Given the description of an element on the screen output the (x, y) to click on. 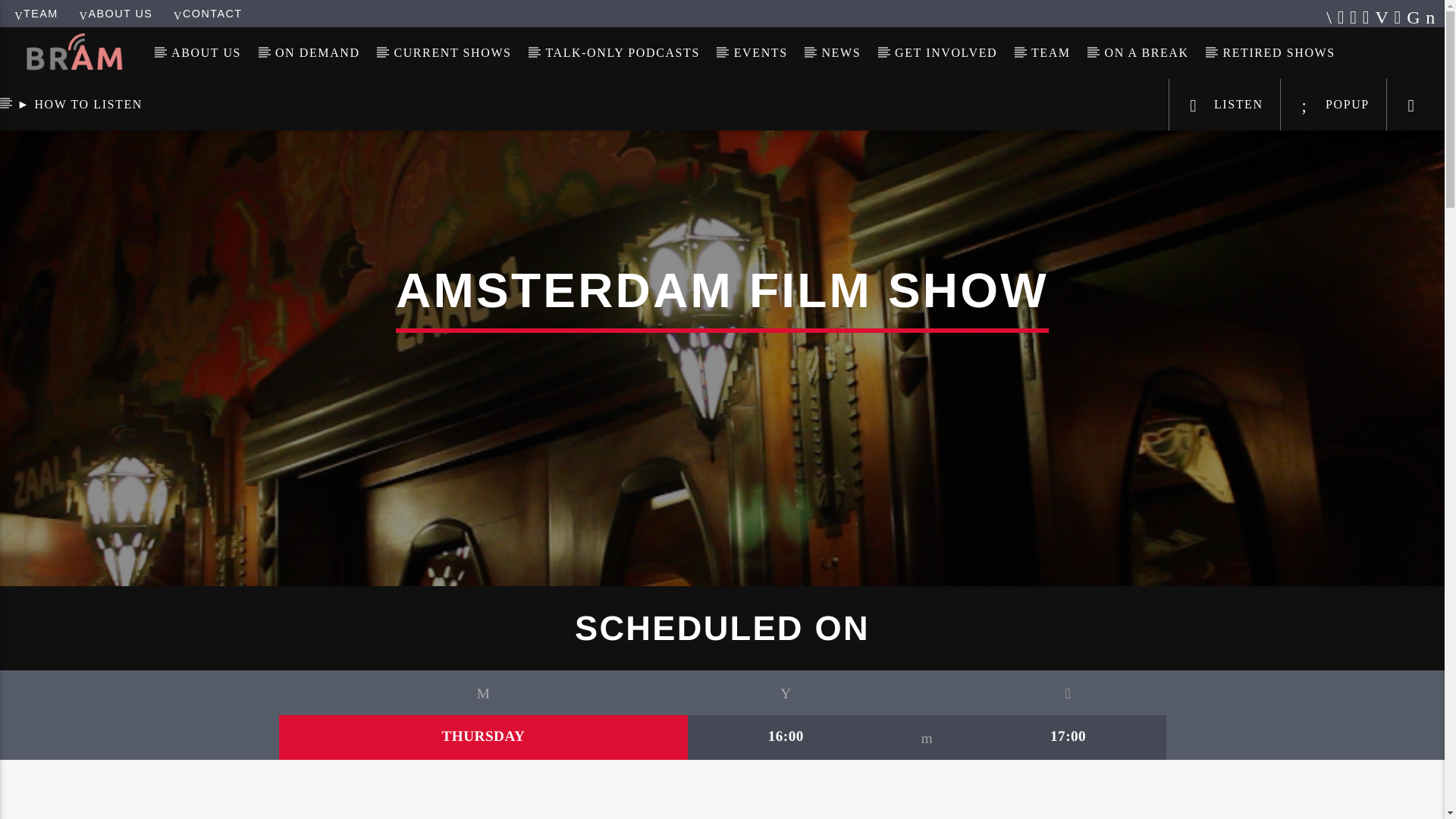
TEAM (36, 13)
CONTACT (207, 13)
TALK-ONLY PODCASTS (622, 52)
ABOUT US (116, 13)
TEAM (1050, 52)
GET INVOLVED (945, 52)
ON A BREAK (1146, 52)
ABOUT US (206, 52)
NEWS (841, 52)
EVENTS (760, 52)
CURRENT SHOWS (452, 52)
ON DEMAND (318, 52)
